Given the description of an element on the screen output the (x, y) to click on. 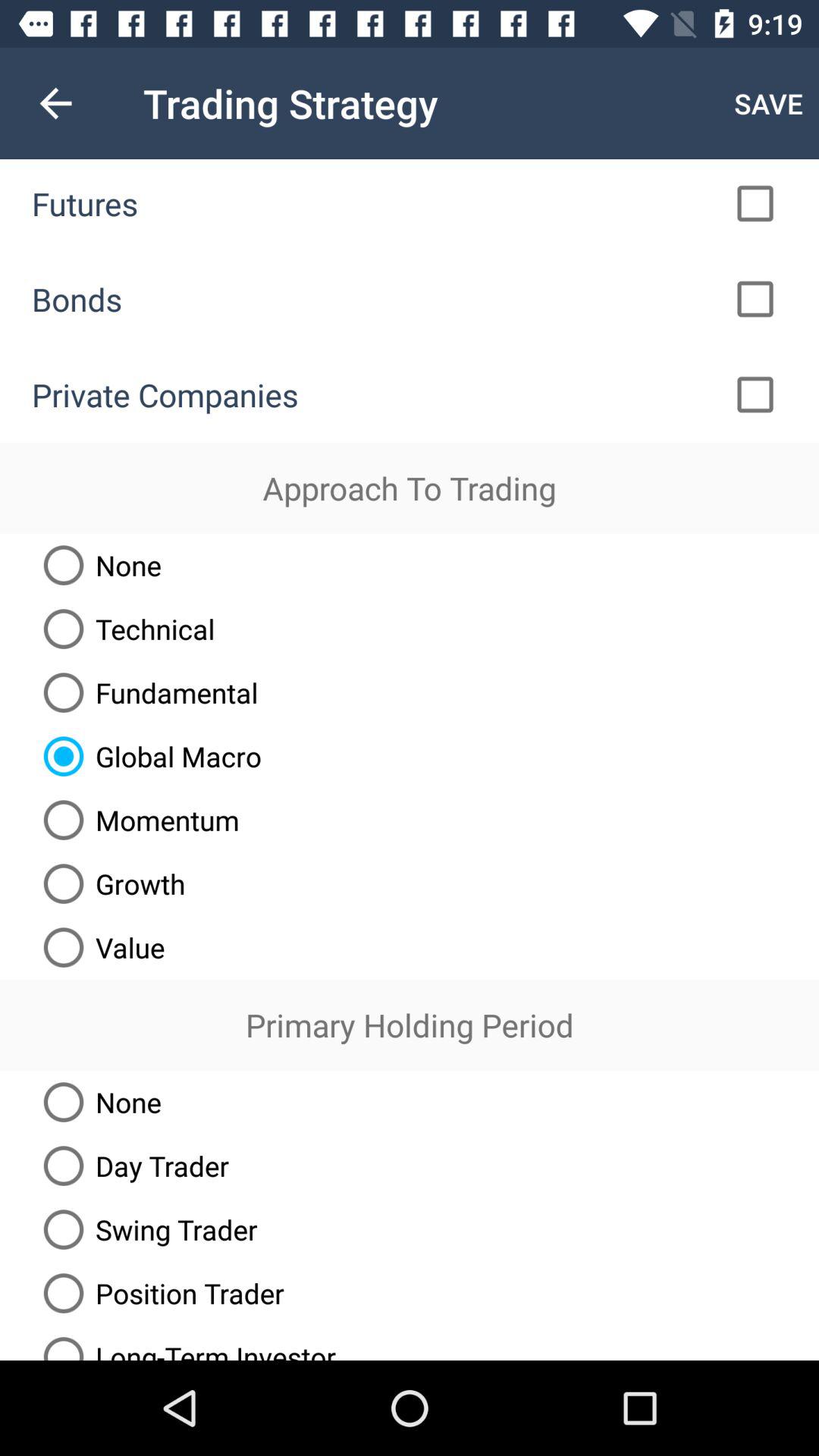
flip until day trader radio button (130, 1165)
